Given the description of an element on the screen output the (x, y) to click on. 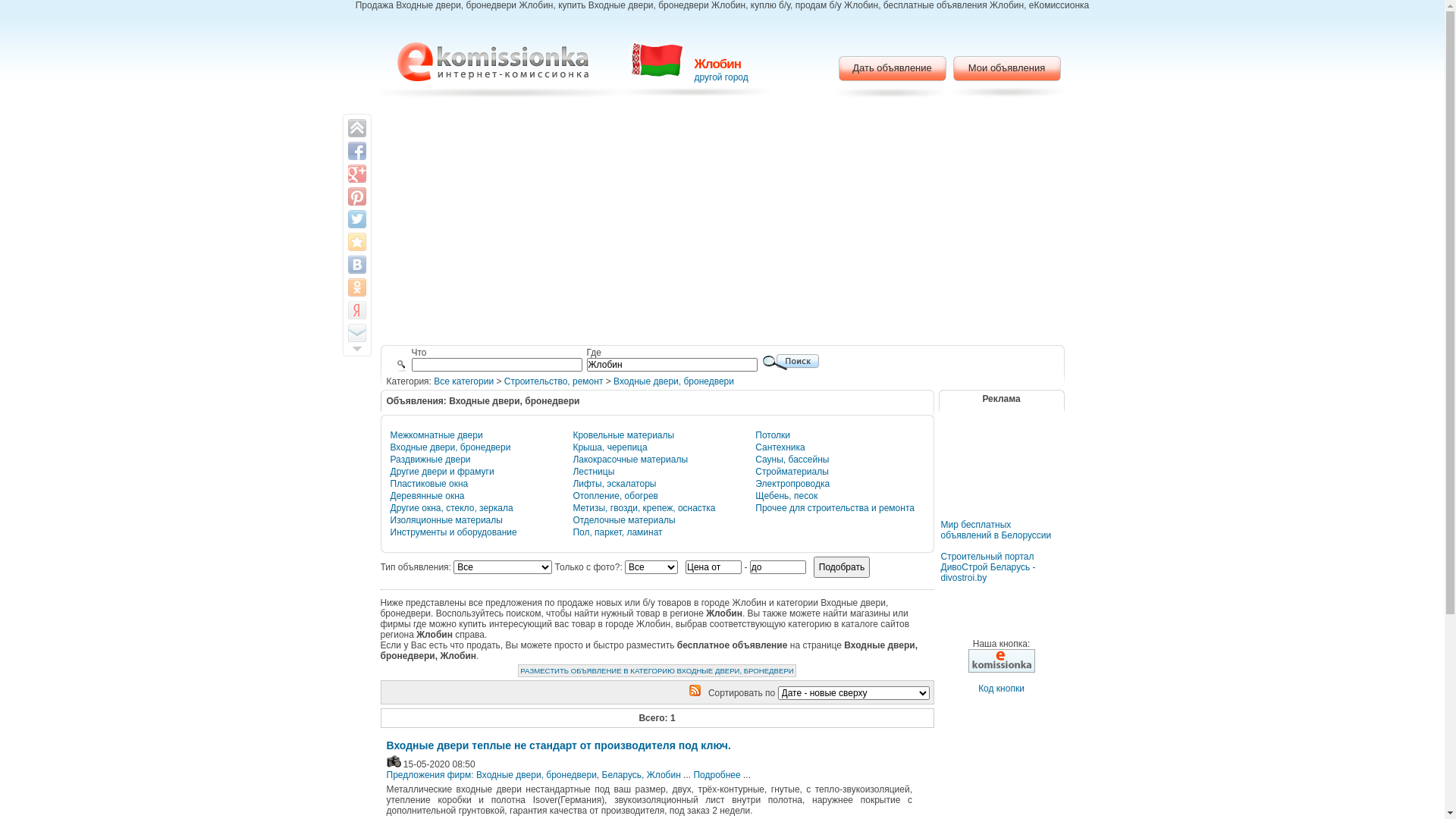
Save to Yandex Bookmarks Element type: hover (356, 310)
Share on Twitter Element type: hover (356, 219)
Save to Browser Favorites Element type: hover (356, 241)
Email this to a friend Element type: hover (356, 332)
Advertisement Element type: hover (722, 223)
Share on VK Element type: hover (356, 264)
Pin It Element type: hover (356, 196)
Share on Google+ Element type: hover (356, 173)
Advertisement Element type: hover (1000, 474)
Back on top Element type: hover (356, 128)
Share on Facebook Element type: hover (356, 150)
Share to Odnoklassniki.ru Element type: hover (356, 287)
